Given the description of an element on the screen output the (x, y) to click on. 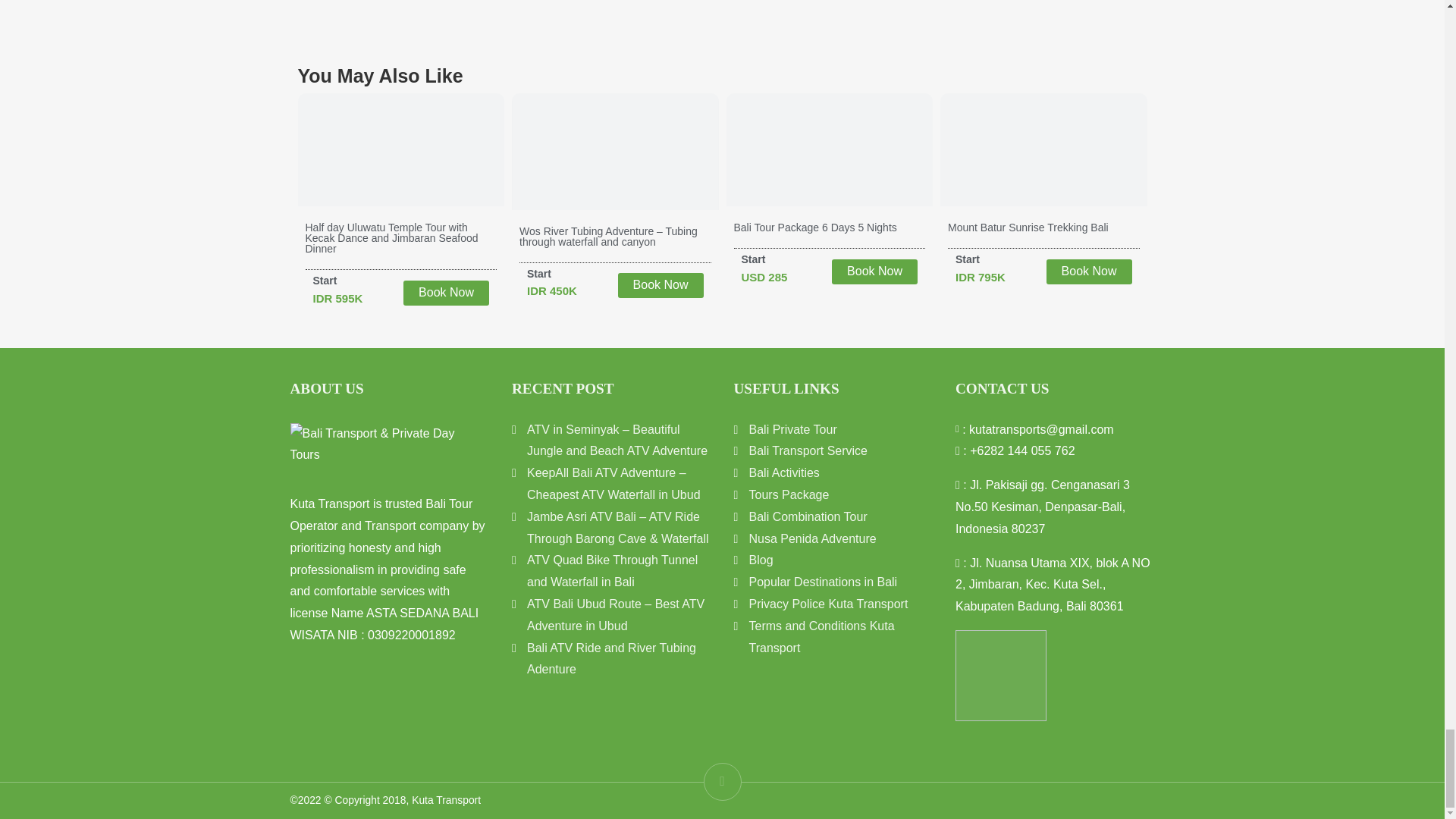
Bali ATV Ride and River Tubing Adenture (611, 659)
Book Now (660, 285)
Mount Batur Sunrise Trekking Bali (1027, 227)
Bali Tour Package 6 Days 5 Nights (814, 227)
Bali Private Tour (793, 429)
Book Now (874, 271)
Bali Activities (784, 472)
ATV Quad Bike Through Tunnel and Waterfall in Bali (612, 570)
Book Now (446, 292)
